Given the description of an element on the screen output the (x, y) to click on. 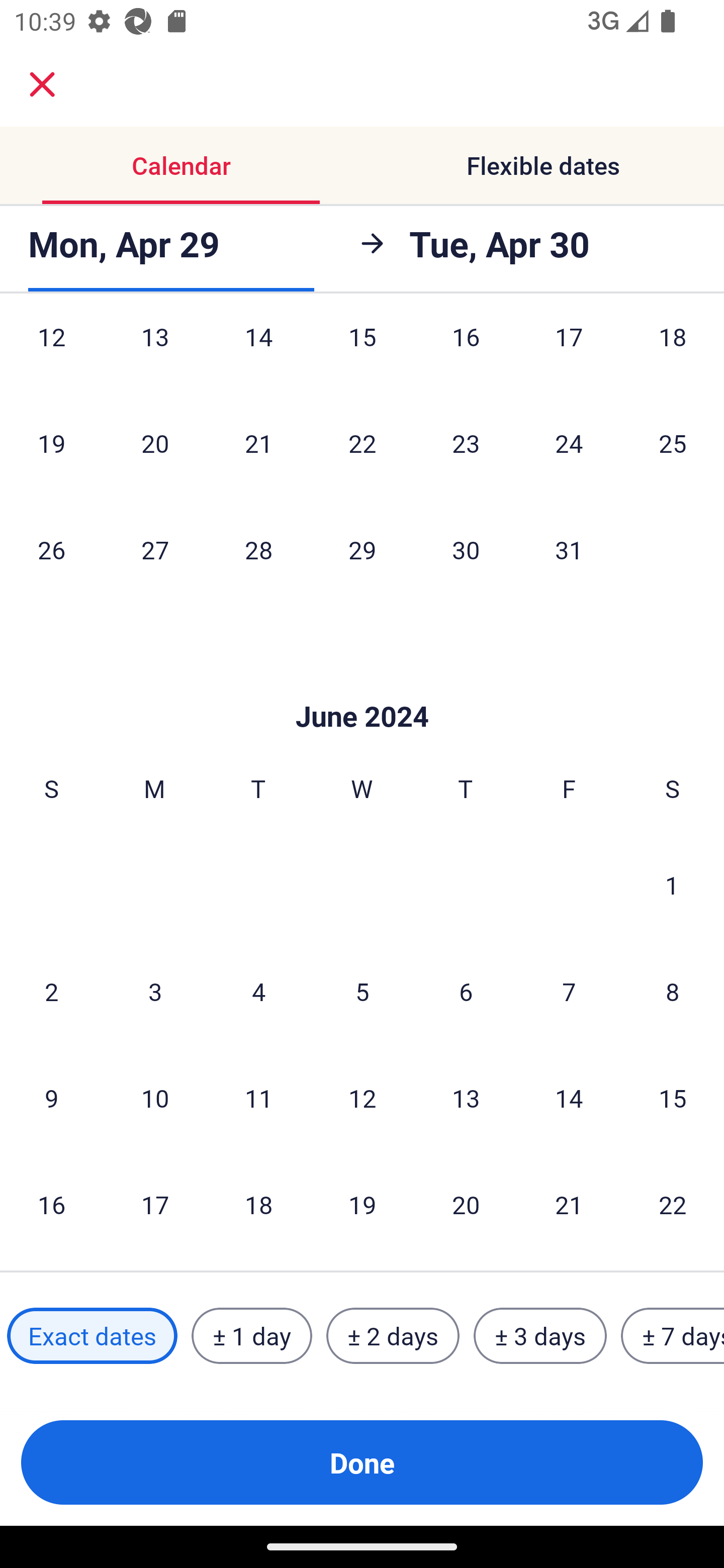
close. (42, 84)
Flexible dates (542, 164)
12 Sunday, May 12, 2024 (51, 354)
13 Monday, May 13, 2024 (155, 354)
14 Tuesday, May 14, 2024 (258, 354)
15 Wednesday, May 15, 2024 (362, 354)
16 Thursday, May 16, 2024 (465, 354)
17 Friday, May 17, 2024 (569, 354)
18 Saturday, May 18, 2024 (672, 354)
19 Sunday, May 19, 2024 (51, 442)
20 Monday, May 20, 2024 (155, 442)
21 Tuesday, May 21, 2024 (258, 442)
22 Wednesday, May 22, 2024 (362, 442)
23 Thursday, May 23, 2024 (465, 442)
24 Friday, May 24, 2024 (569, 442)
25 Saturday, May 25, 2024 (672, 442)
26 Sunday, May 26, 2024 (51, 549)
27 Monday, May 27, 2024 (155, 549)
28 Tuesday, May 28, 2024 (258, 549)
29 Wednesday, May 29, 2024 (362, 549)
30 Thursday, May 30, 2024 (465, 549)
31 Friday, May 31, 2024 (569, 549)
Skip to Done (362, 686)
1 Saturday, June 1, 2024 (672, 884)
2 Sunday, June 2, 2024 (51, 990)
3 Monday, June 3, 2024 (155, 990)
4 Tuesday, June 4, 2024 (258, 990)
5 Wednesday, June 5, 2024 (362, 990)
6 Thursday, June 6, 2024 (465, 990)
7 Friday, June 7, 2024 (569, 990)
8 Saturday, June 8, 2024 (672, 990)
9 Sunday, June 9, 2024 (51, 1097)
10 Monday, June 10, 2024 (155, 1097)
11 Tuesday, June 11, 2024 (258, 1097)
12 Wednesday, June 12, 2024 (362, 1097)
13 Thursday, June 13, 2024 (465, 1097)
14 Friday, June 14, 2024 (569, 1097)
15 Saturday, June 15, 2024 (672, 1097)
16 Sunday, June 16, 2024 (51, 1203)
17 Monday, June 17, 2024 (155, 1203)
18 Tuesday, June 18, 2024 (258, 1203)
19 Wednesday, June 19, 2024 (362, 1203)
20 Thursday, June 20, 2024 (465, 1203)
21 Friday, June 21, 2024 (569, 1203)
22 Saturday, June 22, 2024 (672, 1203)
Exact dates (92, 1335)
± 1 day (251, 1335)
± 2 days (392, 1335)
± 3 days (539, 1335)
± 7 days (672, 1335)
Done (361, 1462)
